Given the description of an element on the screen output the (x, y) to click on. 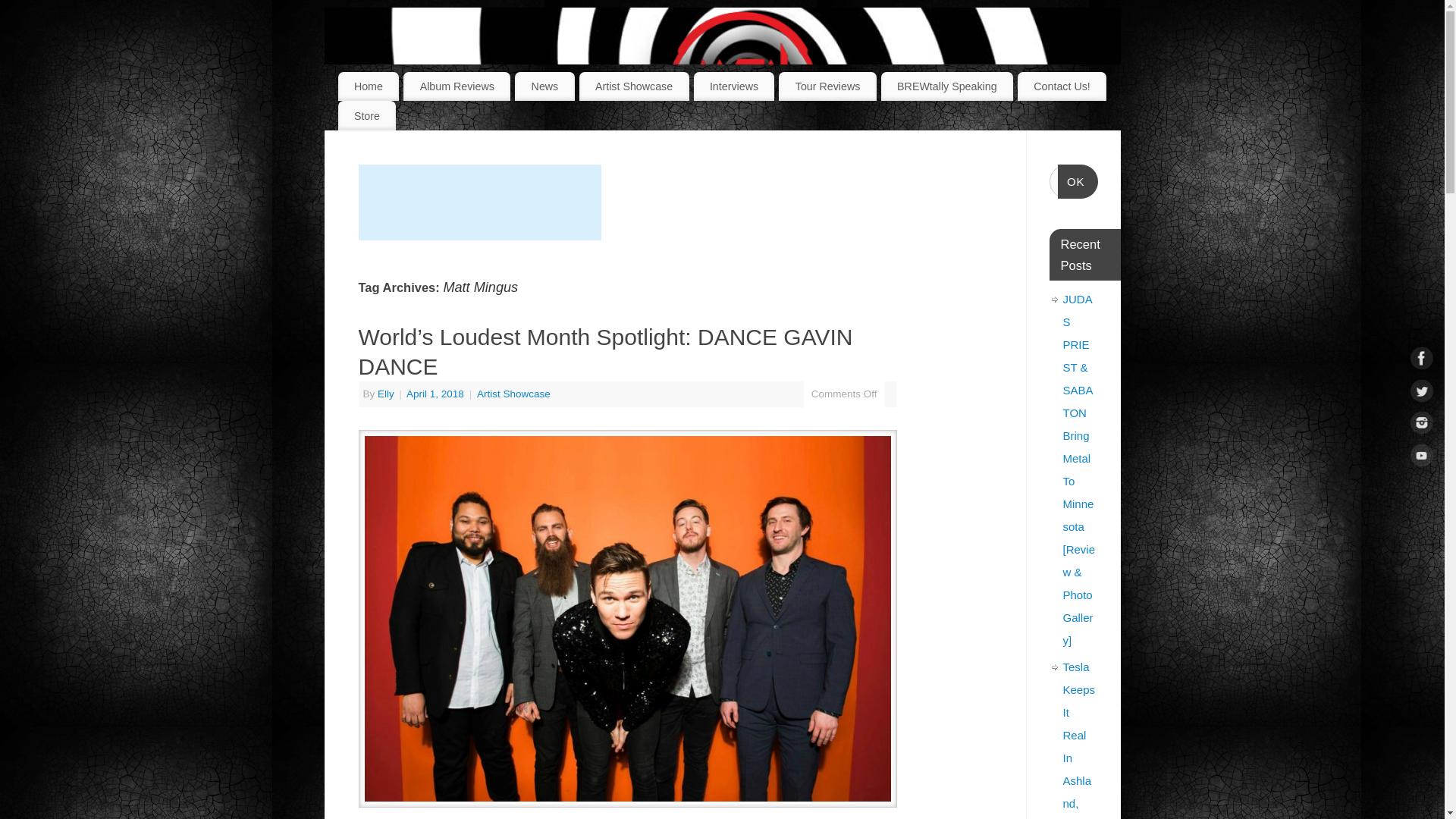
View all posts by Elly (385, 393)
April 1, 2018 (436, 393)
Artist Showcase (513, 393)
OK (1077, 181)
Advertisement (478, 202)
Store (366, 114)
BREWtally Speaking (946, 86)
Tour Reviews (827, 86)
1:38 pm (436, 393)
Interviews (734, 86)
Metal Nexus (741, 82)
Artist Showcase (633, 86)
Elly (385, 393)
Home (367, 86)
Contact Us! (1061, 86)
